Given the description of an element on the screen output the (x, y) to click on. 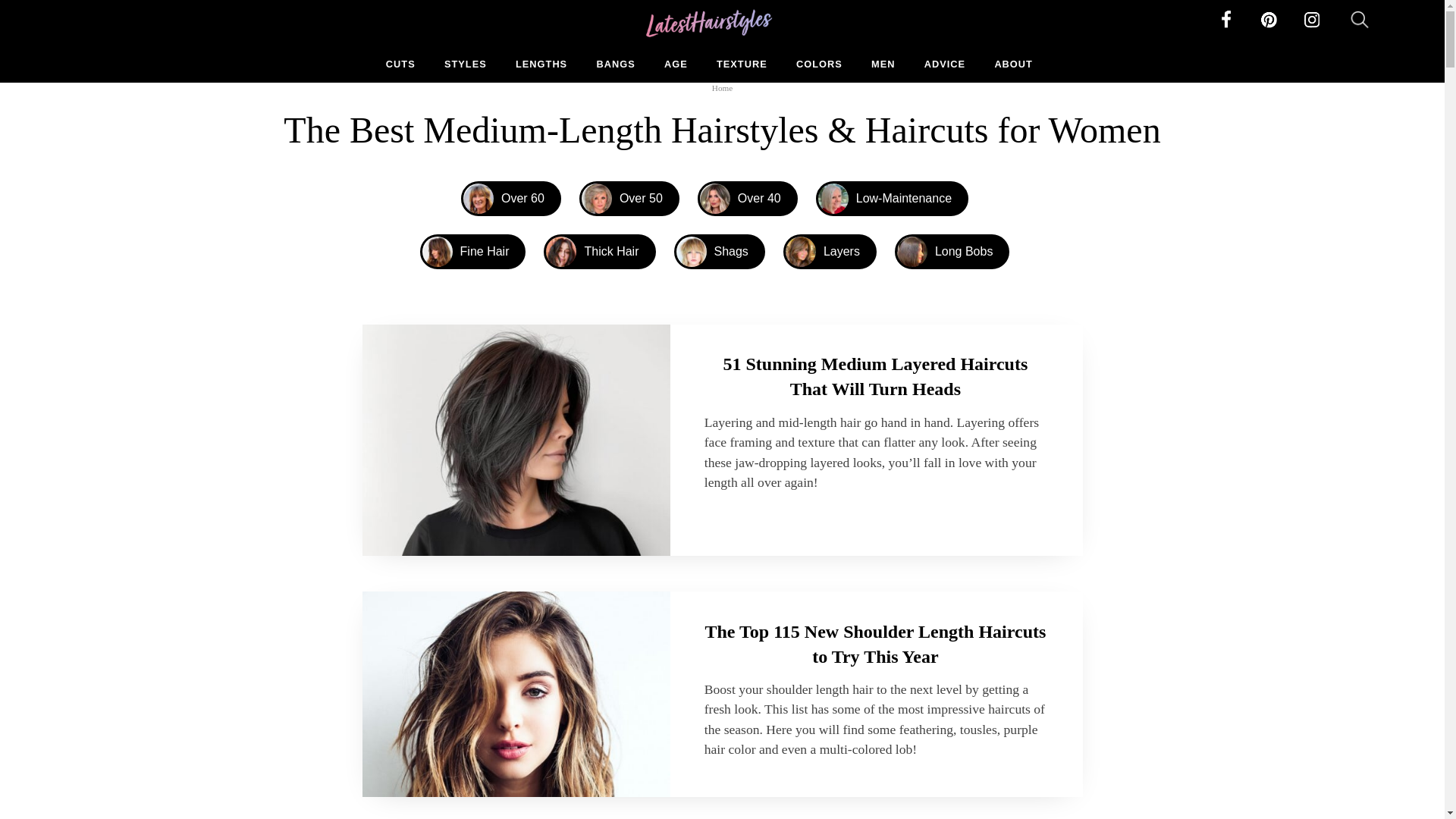
LENGTHS (541, 68)
BANGS (614, 68)
CUTS (399, 68)
STYLES (465, 68)
